Given the description of an element on the screen output the (x, y) to click on. 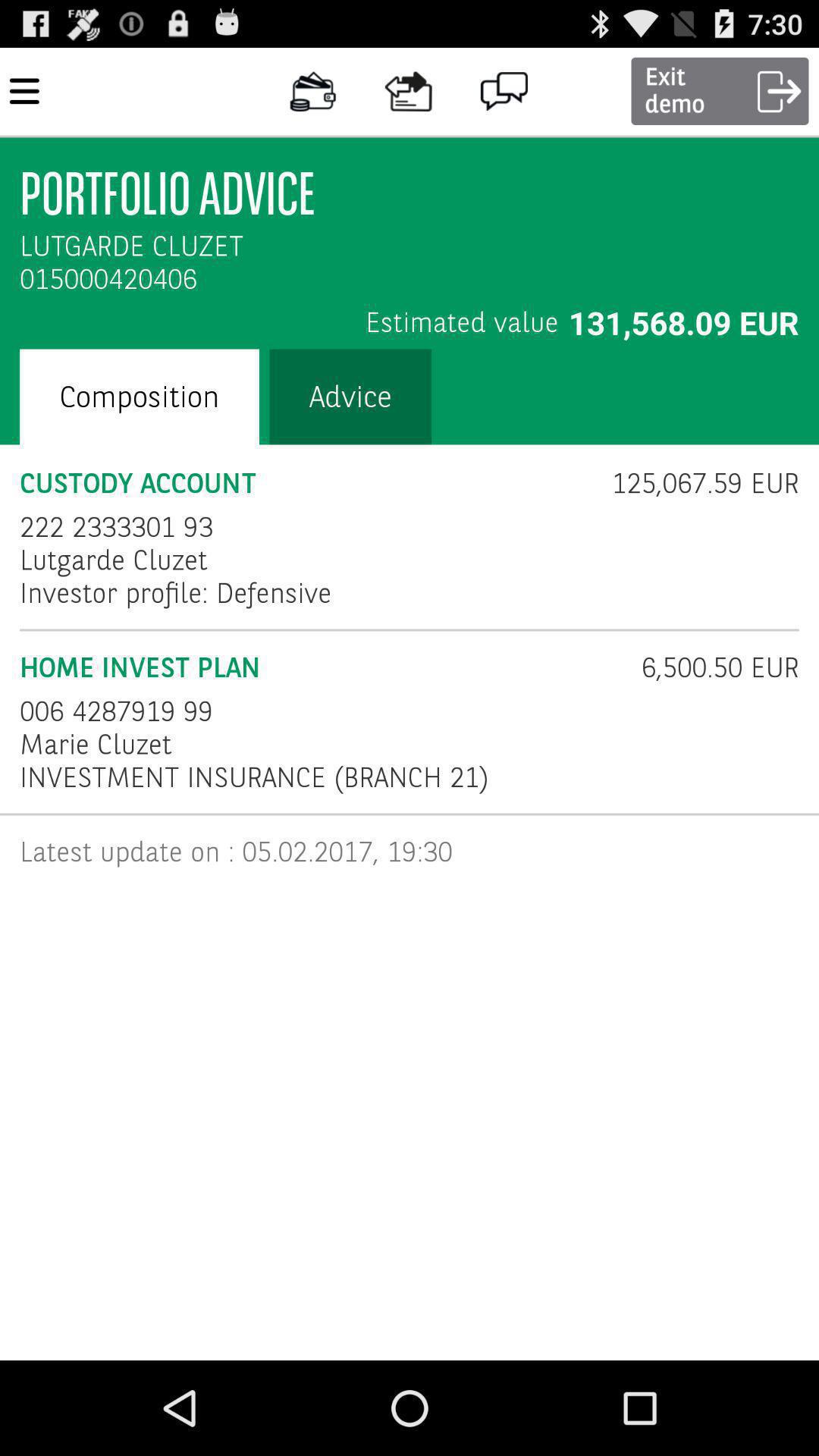
turn on checkbox to the right of home invest plan icon (710, 667)
